Given the description of an element on the screen output the (x, y) to click on. 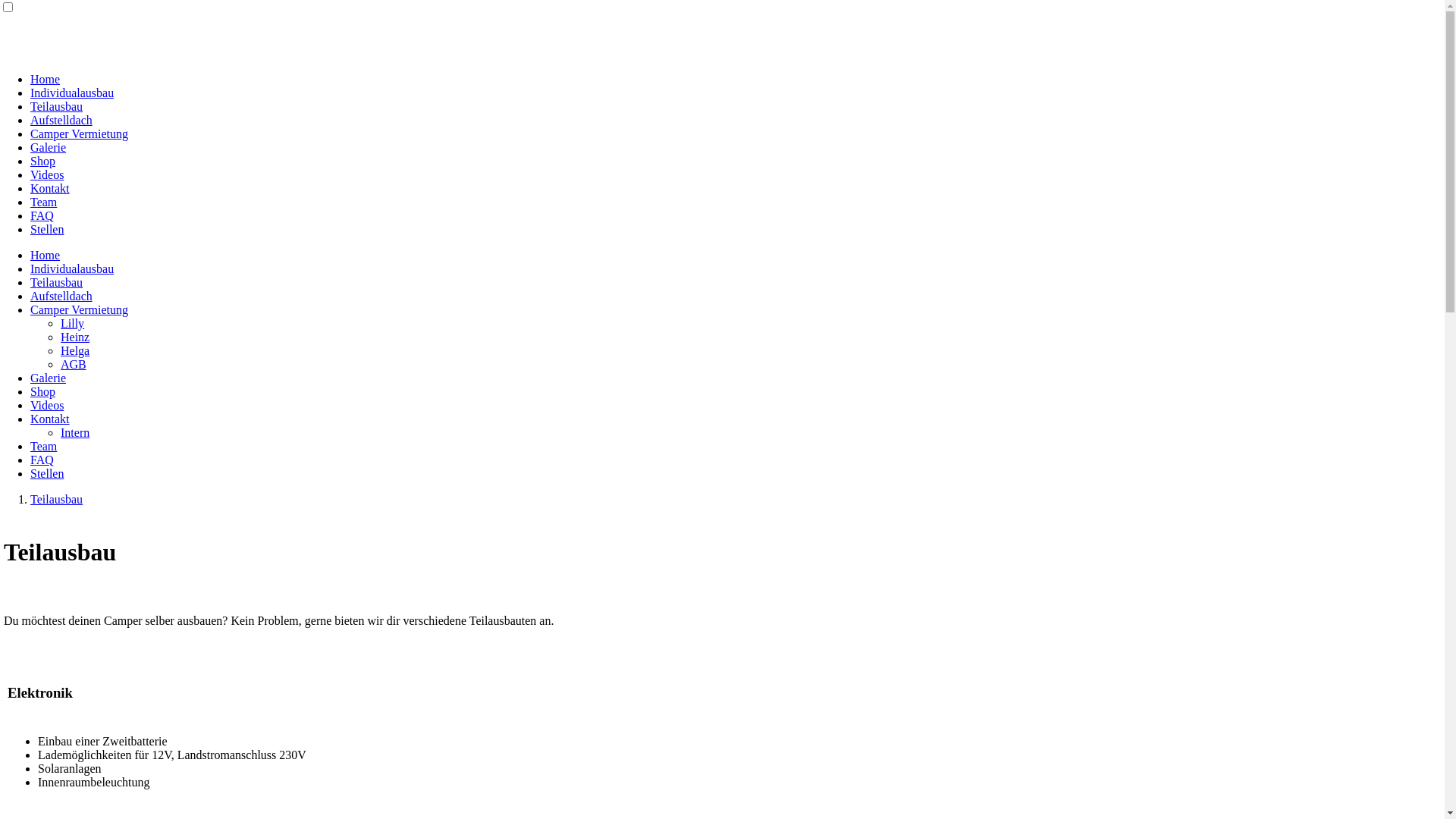
Videos Element type: text (46, 404)
Kontakt Element type: text (49, 188)
Teilausbau Element type: text (56, 498)
Aufstelldach Element type: text (61, 119)
Teilausbau Element type: text (56, 282)
FAQ Element type: text (41, 459)
Individualausbau Element type: text (71, 268)
Lilly Element type: text (72, 322)
Teilausbau Element type: text (56, 106)
Helga Element type: text (74, 350)
AGB Element type: text (73, 363)
Stellen Element type: text (46, 473)
Aufstelldach Element type: text (61, 295)
Home Element type: text (44, 254)
Heinz Element type: text (74, 336)
Team Element type: text (43, 445)
Team Element type: text (43, 201)
Galerie Element type: text (47, 377)
Videos Element type: text (46, 174)
Individualausbau Element type: text (71, 92)
Camper Vermietung Element type: text (79, 309)
Shop Element type: text (42, 391)
Kontakt Element type: text (49, 418)
Galerie Element type: text (47, 147)
Camper Vermietung Element type: text (79, 133)
Home Element type: text (44, 78)
Shop Element type: text (42, 160)
Stellen Element type: text (46, 228)
Intern Element type: text (74, 432)
FAQ Element type: text (41, 215)
